Given the description of an element on the screen output the (x, y) to click on. 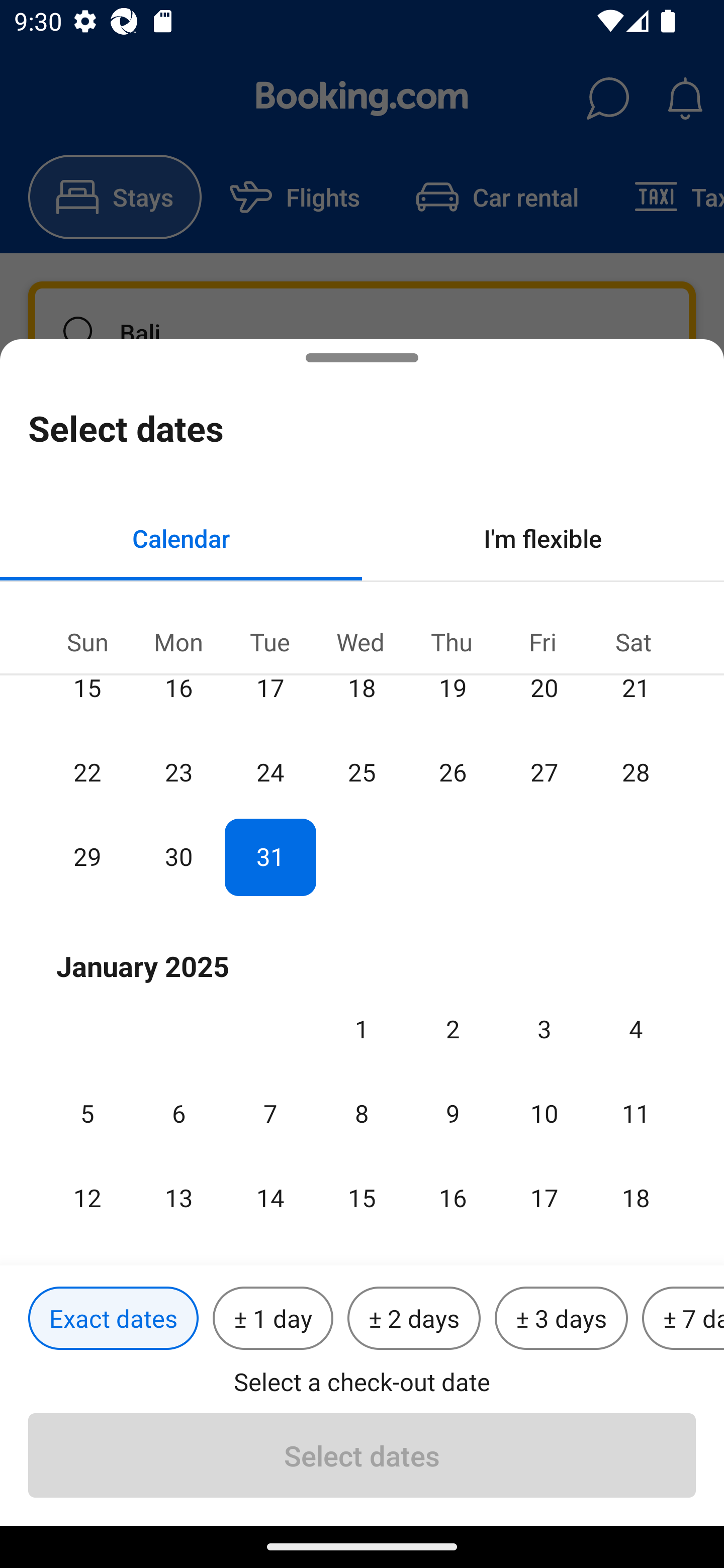
I'm flexible (543, 537)
Exact dates (113, 1318)
± 1 day (272, 1318)
± 2 days (413, 1318)
± 3 days (560, 1318)
± 7 days (683, 1318)
Select dates (361, 1454)
